Given the description of an element on the screen output the (x, y) to click on. 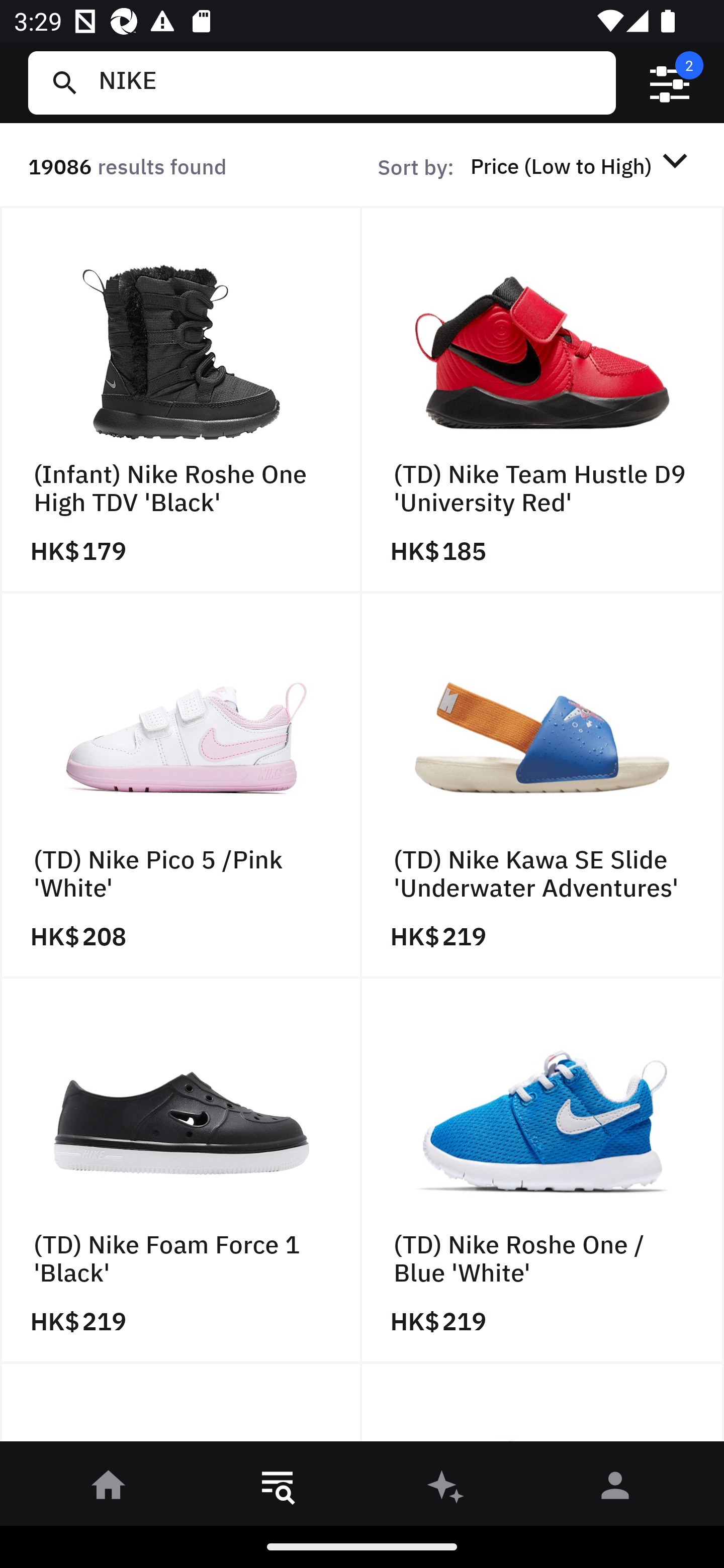
NIKE (349, 82)
 (669, 82)
Price (Low to High)  (582, 165)
(Infant) Nike Roshe One High TDV 'Black' HK$ 179 (181, 399)
(TD) Nike Team Hustle D9 'University Red' HK$ 185 (543, 399)
(TD) Nike Pico 5 /Pink 'White' HK$ 208 (181, 785)
(TD) Nike Foam Force 1 'Black' HK$ 219 (181, 1171)
(TD) Nike Roshe One /Blue 'White' HK$ 219 (543, 1171)
󰋜 (108, 1488)
󱎸 (277, 1488)
󰫢 (446, 1488)
󰀄 (615, 1488)
